Given the description of an element on the screen output the (x, y) to click on. 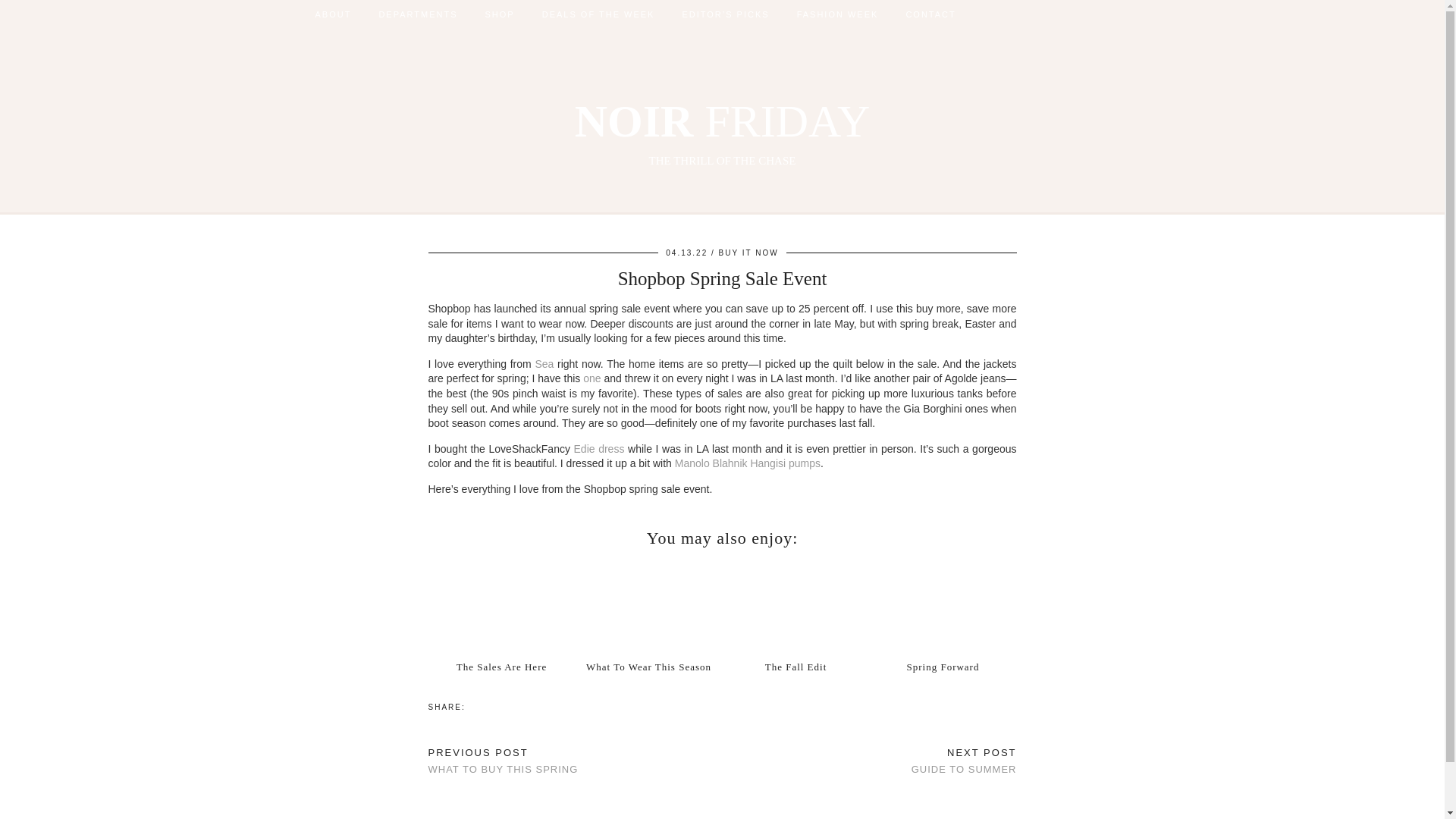
The Sales Are Here (501, 604)
ABOUT (333, 14)
one (591, 378)
SHOP (499, 14)
Noir Friday (721, 132)
What To Wear This Season (648, 604)
BUY IT NOW (748, 252)
CONTACT (930, 14)
The Fall Edit (795, 604)
Spring Forward (942, 604)
FASHION WEEK (837, 14)
The Sales Are Here (502, 666)
What To Wear This Season (648, 666)
Sea (543, 363)
DEALS OF THE WEEK (598, 14)
